Given the description of an element on the screen output the (x, y) to click on. 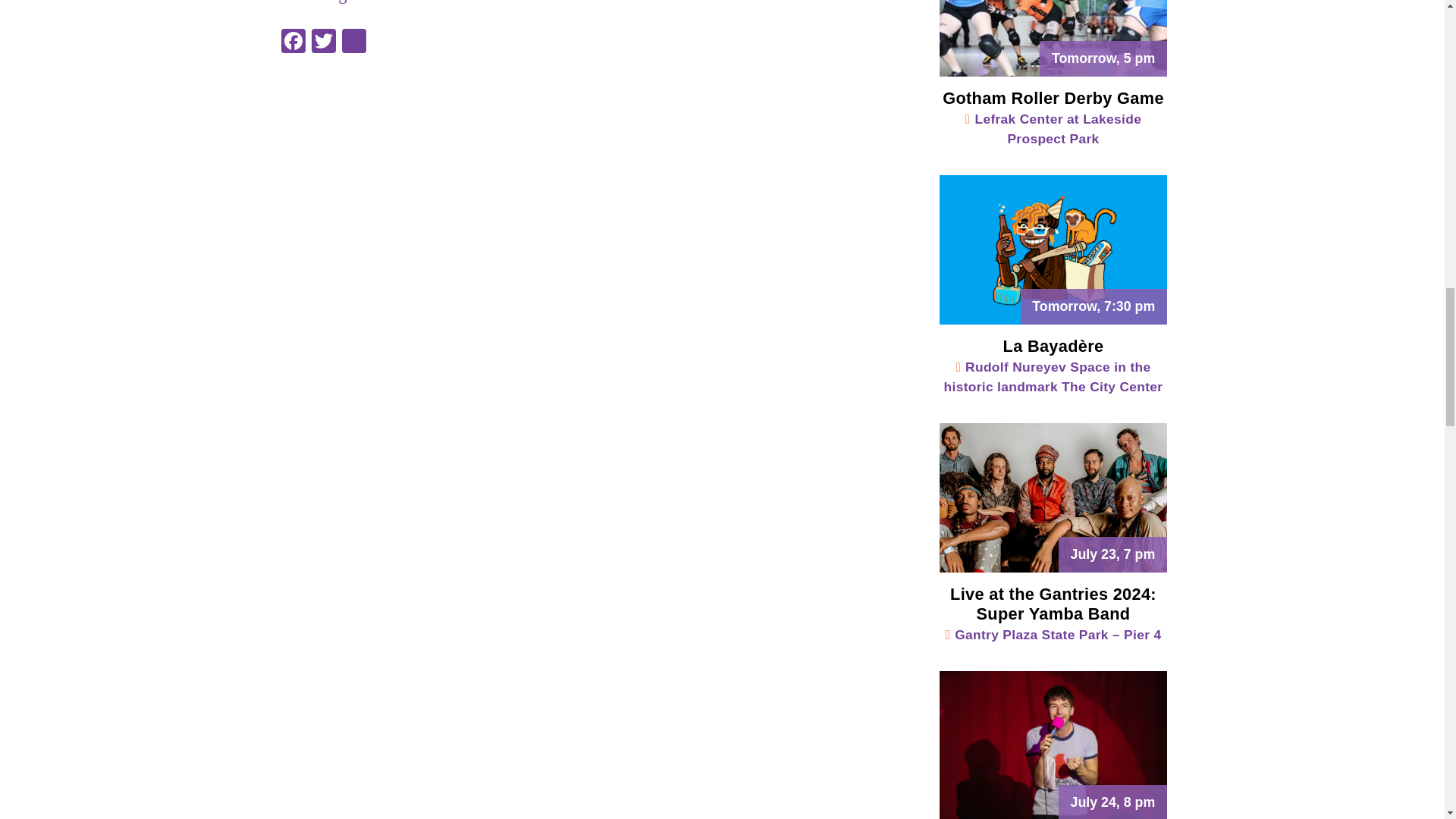
Facebook (292, 42)
Twitter (322, 42)
